Given the description of an element on the screen output the (x, y) to click on. 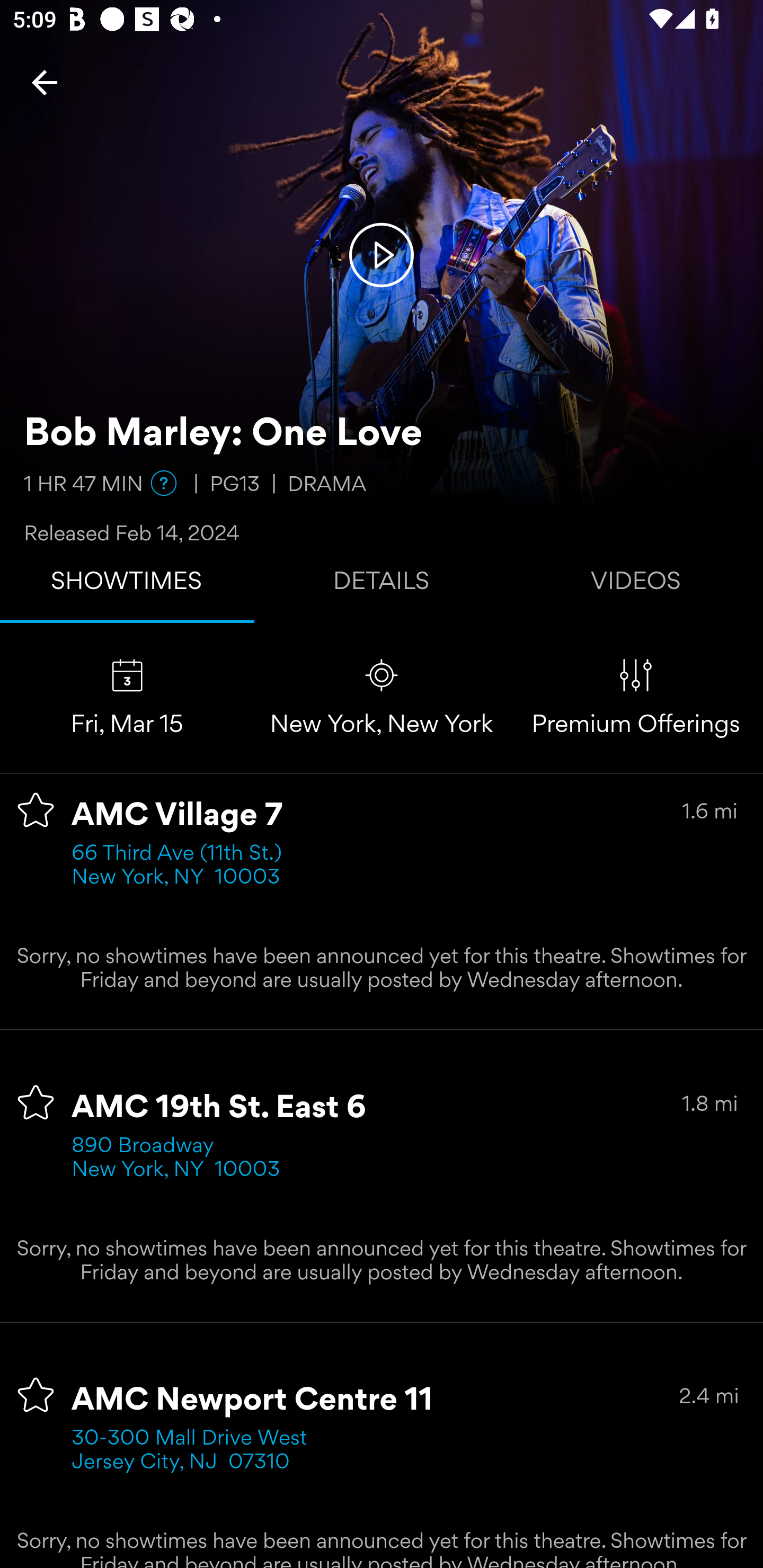
Back (44, 82)
Play (381, 254)
Help (163, 482)
SHOWTIMES
Tab 1 of 3 (127, 584)
DETAILS
Tab 2 of 3 (381, 584)
VIDEOS
Tab 3 of 3 (635, 584)
Change selected day
Fri, Mar 15 (127, 697)
Change location
New York, New York (381, 697)
Premium Offerings
Premium Offerings (635, 697)
AMC Village 7 (177, 816)
66 Third Ave (11th St.)  
New York, NY  10003 (182, 866)
AMC 19th St. East 6 (219, 1108)
890 Broadway  
New York, NY  10003 (176, 1158)
AMC Newport Centre 11 (252, 1400)
30-300 Mall Drive West  
Jersey City, NJ  07310 (195, 1450)
